Given the description of an element on the screen output the (x, y) to click on. 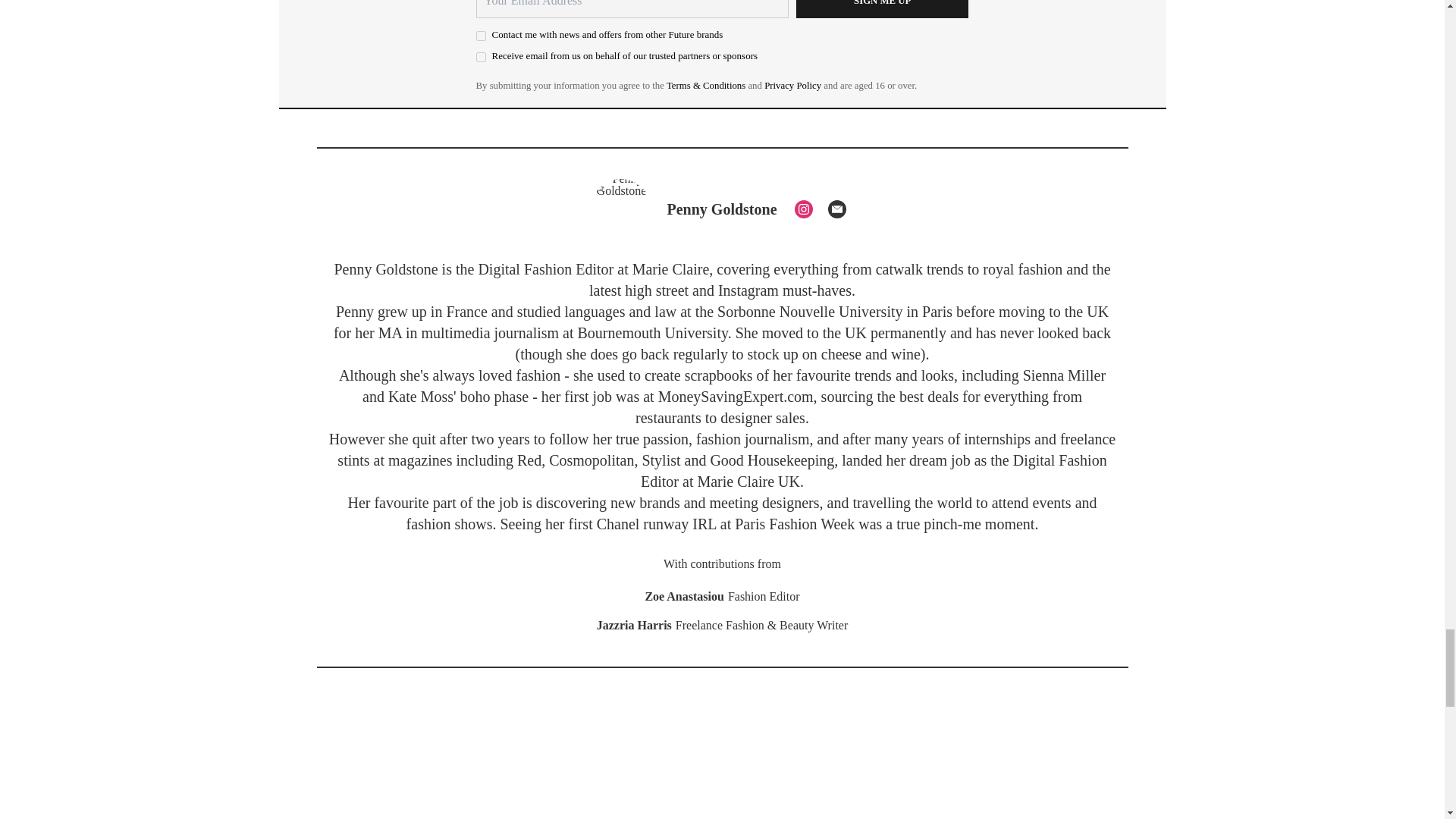
Sign me up (882, 9)
on (481, 57)
on (481, 35)
